Given the description of an element on the screen output the (x, y) to click on. 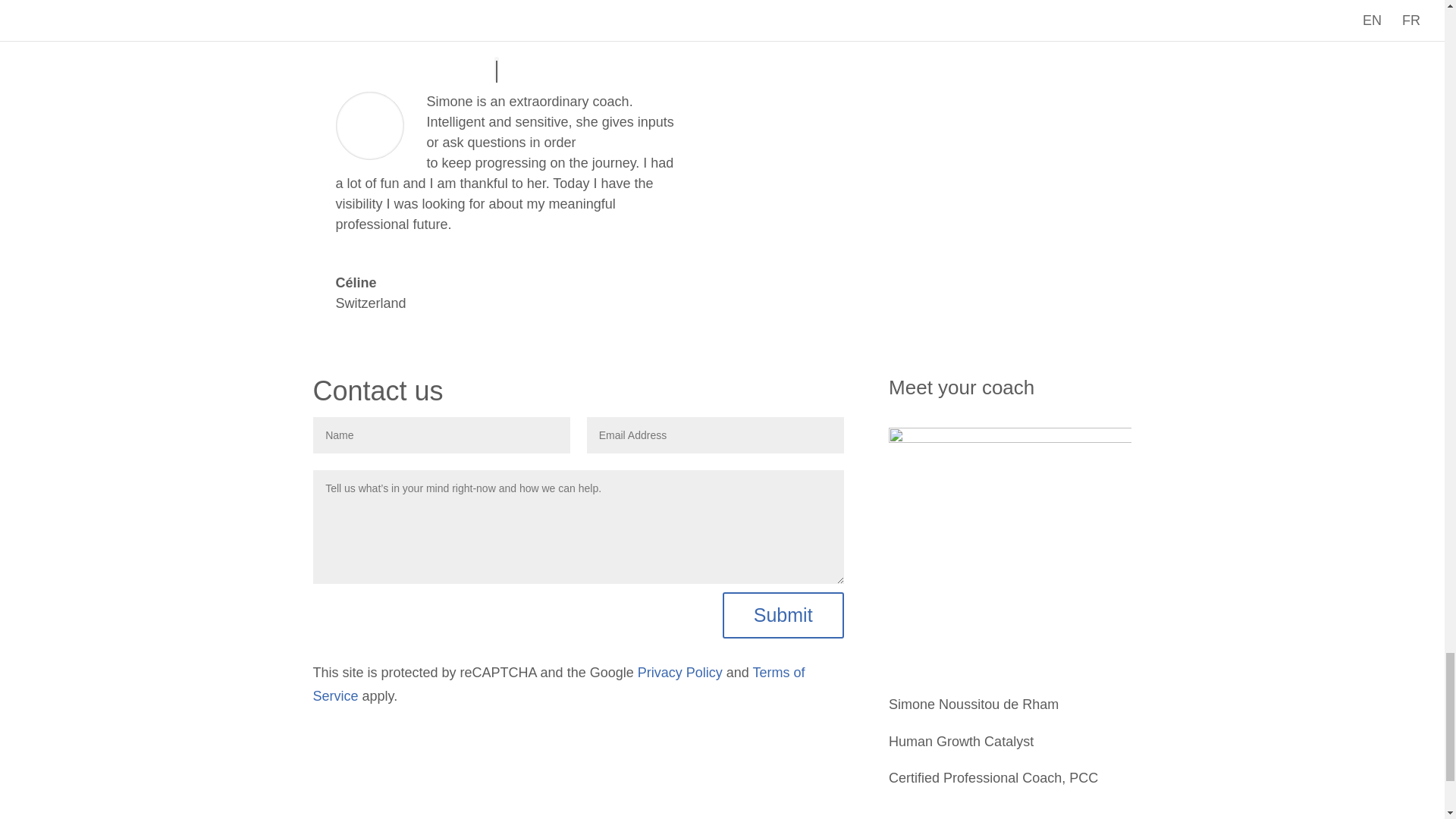
Terms of Service (559, 684)
Privacy Policy (679, 672)
Submit (783, 615)
Let's go! (937, 274)
